Given the description of an element on the screen output the (x, y) to click on. 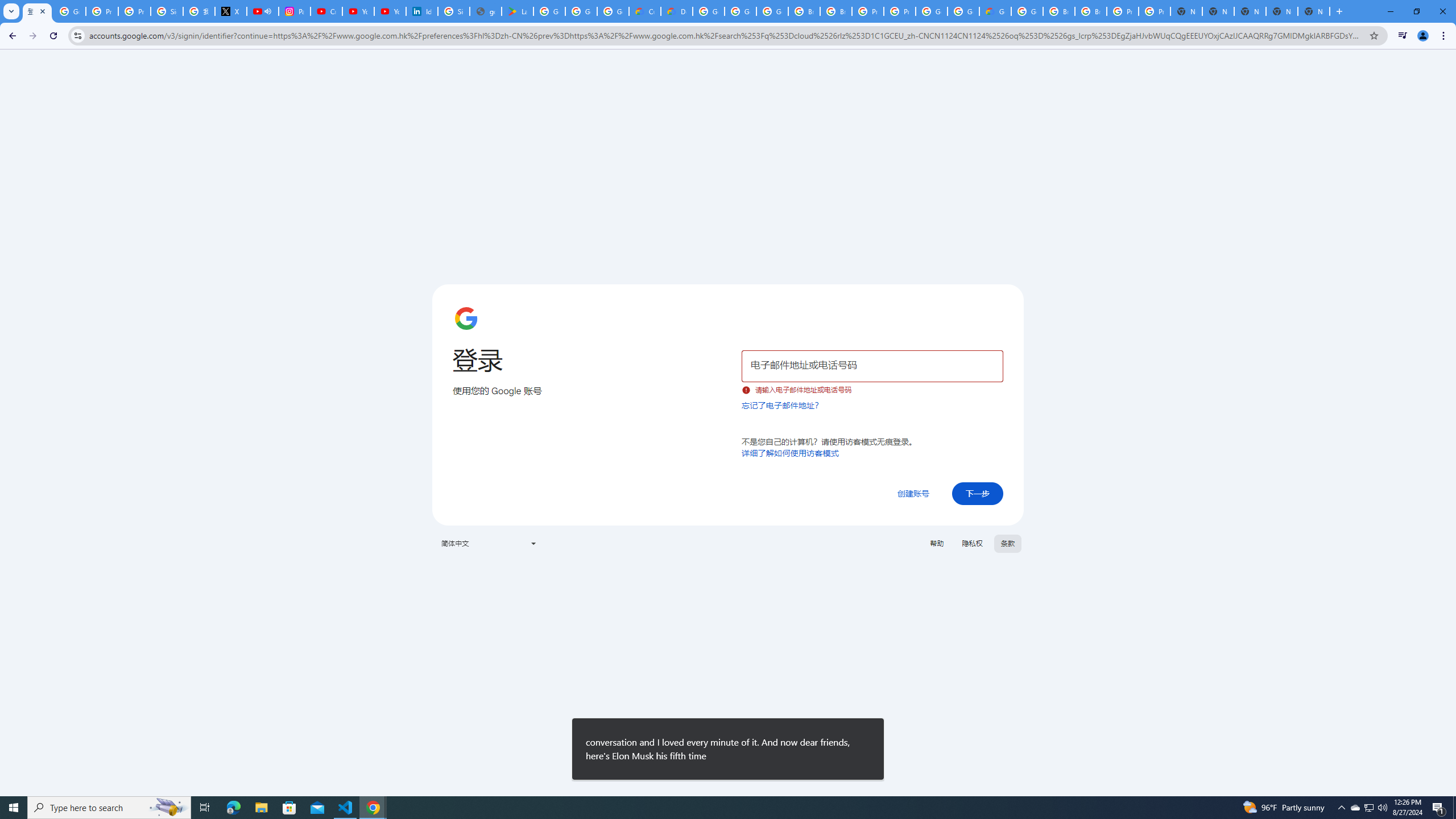
Sign in - Google Accounts (453, 11)
Customer Care | Google Cloud (644, 11)
Mute tab (267, 10)
New Tab (1313, 11)
Browse Chrome as a guest - Computer - Google Chrome Help (1091, 11)
